Given the description of an element on the screen output the (x, y) to click on. 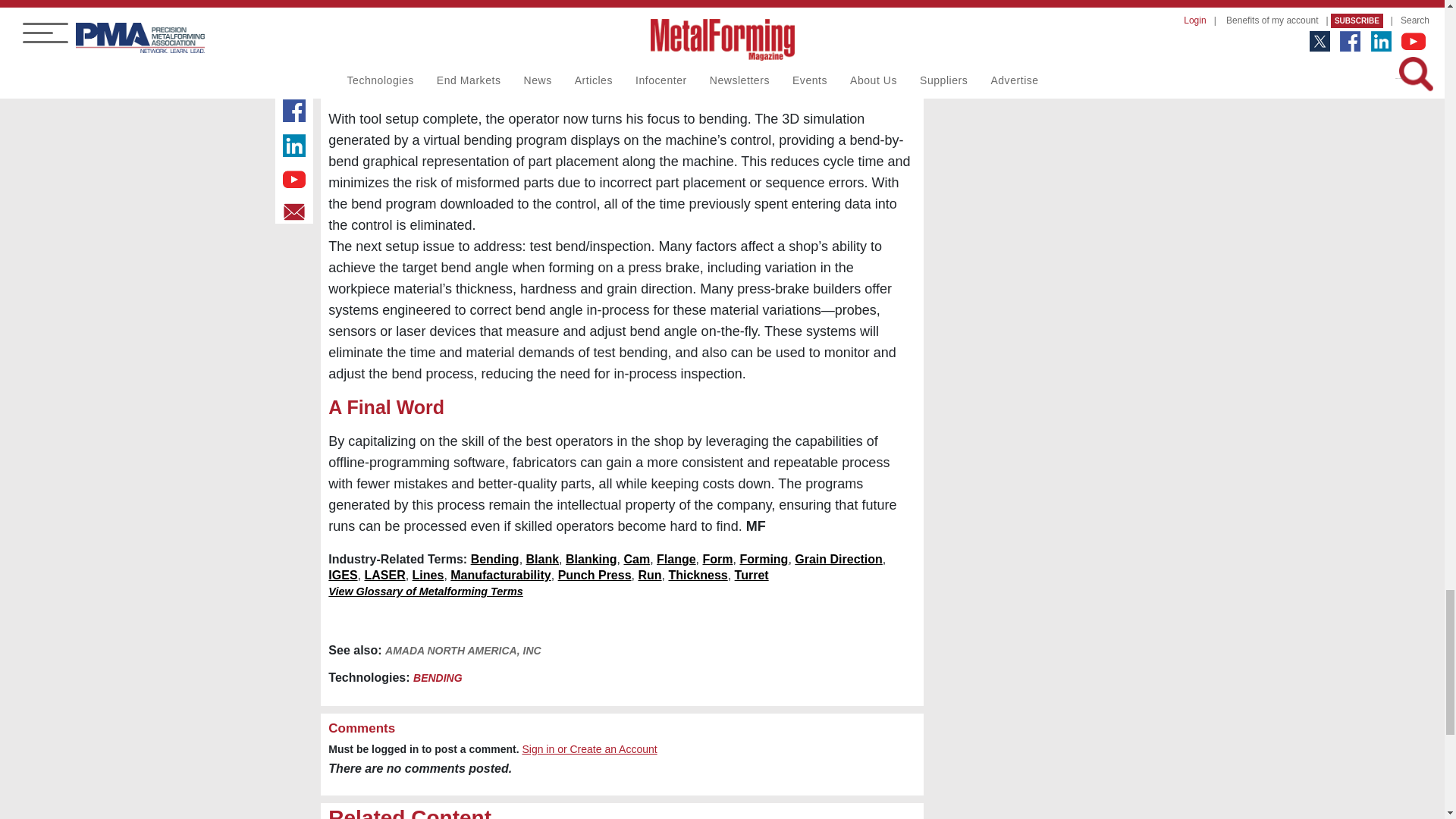
Die cutting of the outside shape of a part. (591, 558)
Rotary tool holding device in CNC punch presses. (751, 574)
A straight line segment between two points. (428, 574)
Acronym for Initial Graphics Exchange Specification. (342, 574)
Gauge or depth of material. (697, 574)
A bend, or the process of bending a metalformed part. (716, 558)
